Given the description of an element on the screen output the (x, y) to click on. 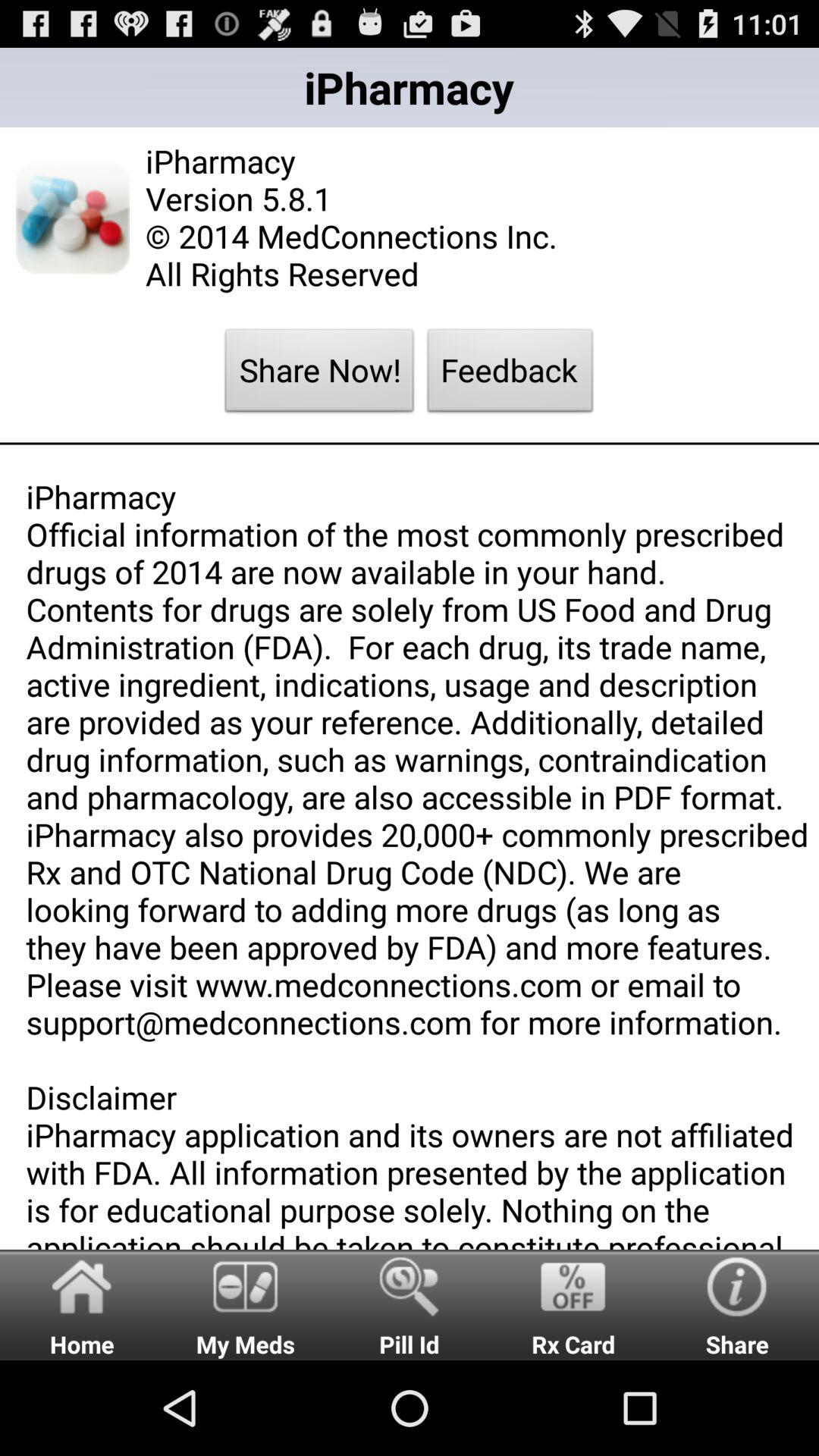
scroll to the home item (81, 1304)
